Given the description of an element on the screen output the (x, y) to click on. 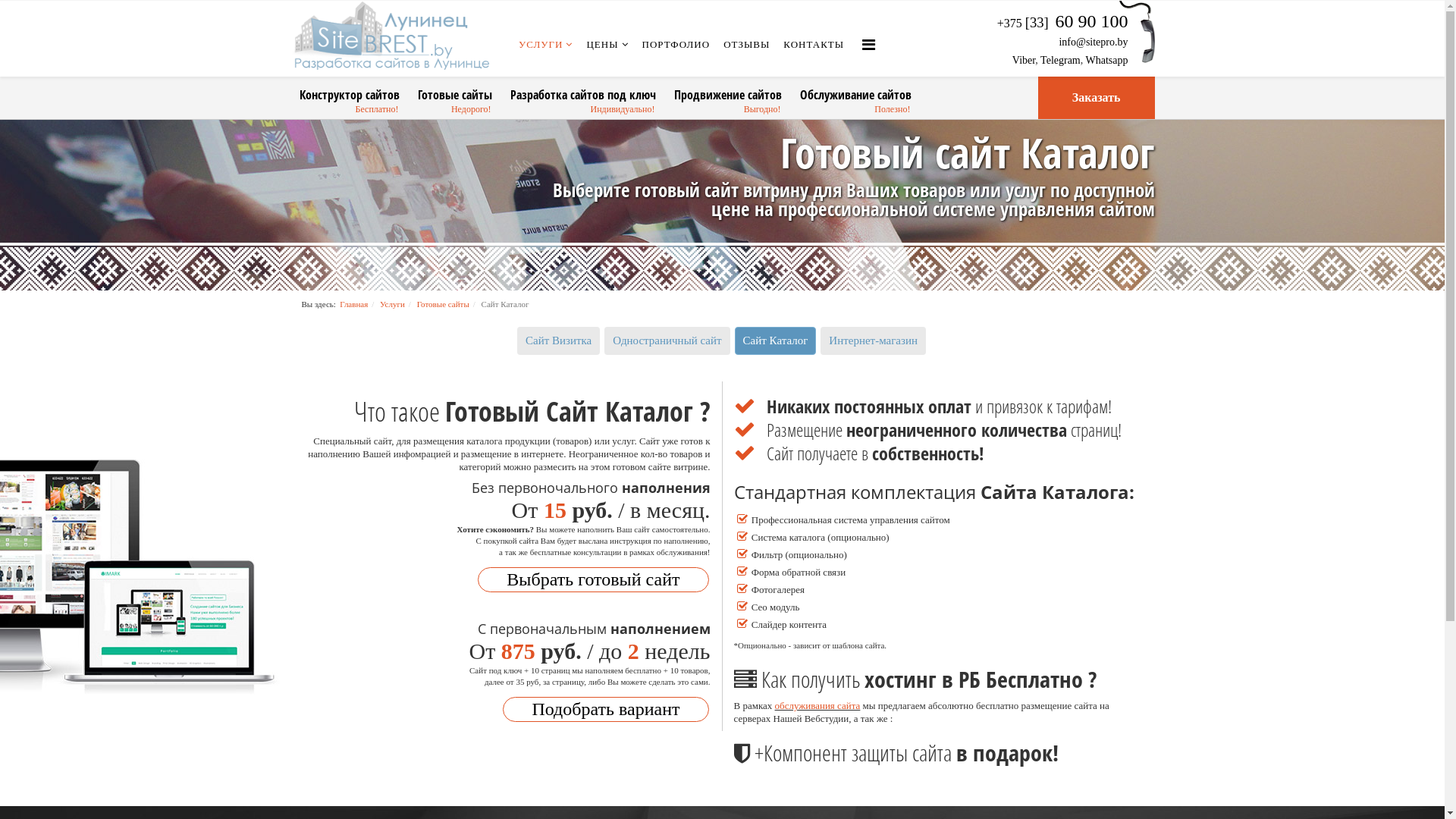
Telegram Element type: text (1060, 59)
+375 [33]  60 90 100 Element type: text (1062, 22)
Whatsapp Element type: text (1106, 59)
info@sitepro.by Element type: text (1092, 41)
Viber Element type: text (1023, 59)
